Given the description of an element on the screen output the (x, y) to click on. 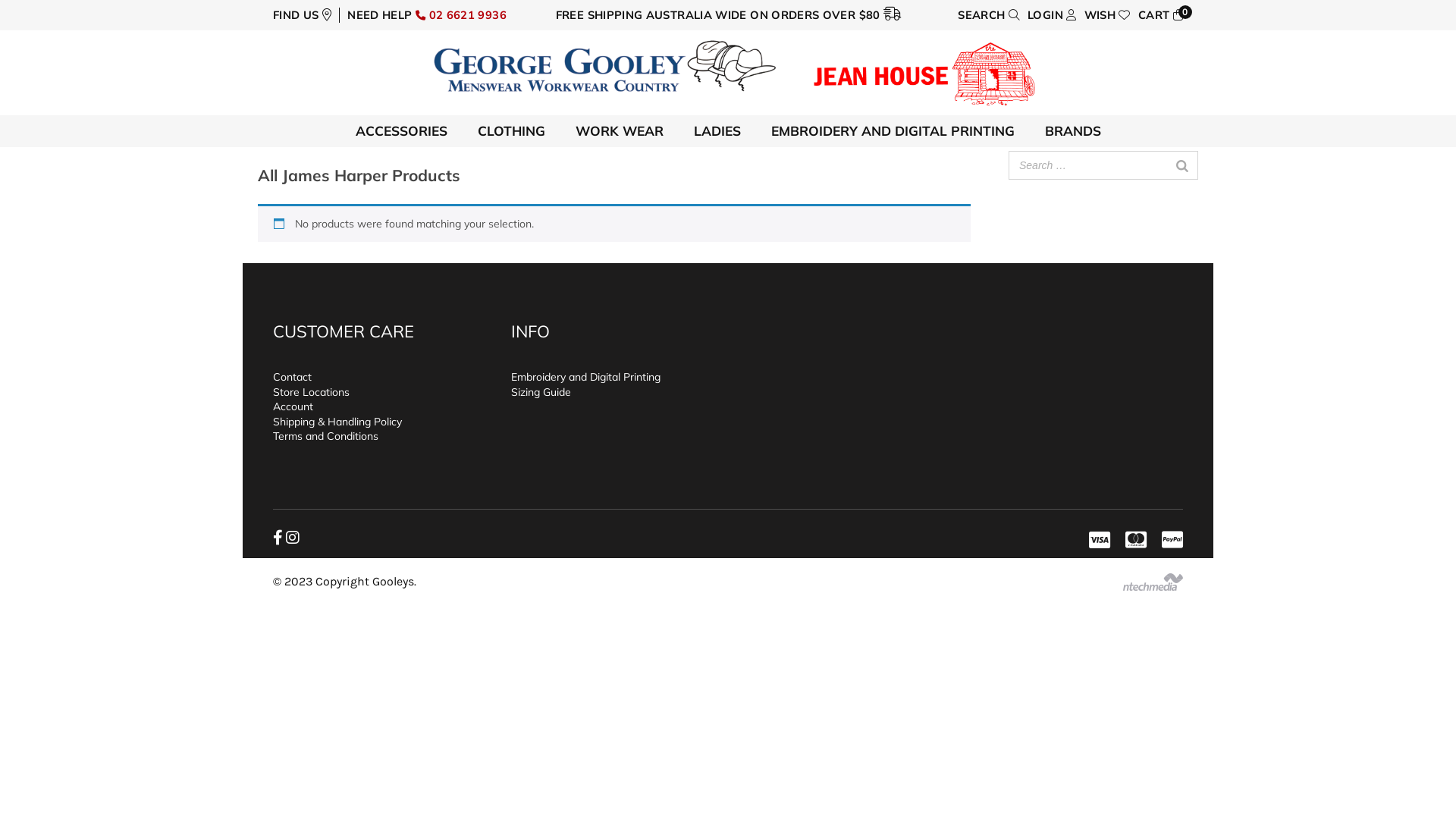
Sizing Guide Element type: text (541, 391)
LOGIN Element type: text (1051, 14)
BRANDS Element type: text (1072, 131)
SEARCH Element type: text (988, 14)
ACCESSORIES Element type: text (400, 131)
LADIES Element type: text (716, 131)
Embroidery and Digital Printing Element type: text (585, 376)
WISH Element type: text (1107, 14)
EMBROIDERY AND DIGITAL PRINTING Element type: text (892, 131)
CLOTHING Element type: text (511, 131)
NEED HELP 02 6621 9936 Element type: text (426, 14)
Contact Element type: text (292, 376)
FIND US Element type: text (302, 14)
Terms and Conditions Element type: text (325, 435)
Account Element type: text (293, 406)
Store Locations Element type: text (311, 391)
Shipping & Handling Policy Element type: text (337, 421)
CART
0 Element type: text (1160, 14)
WORK WEAR Element type: text (618, 131)
